Given the description of an element on the screen output the (x, y) to click on. 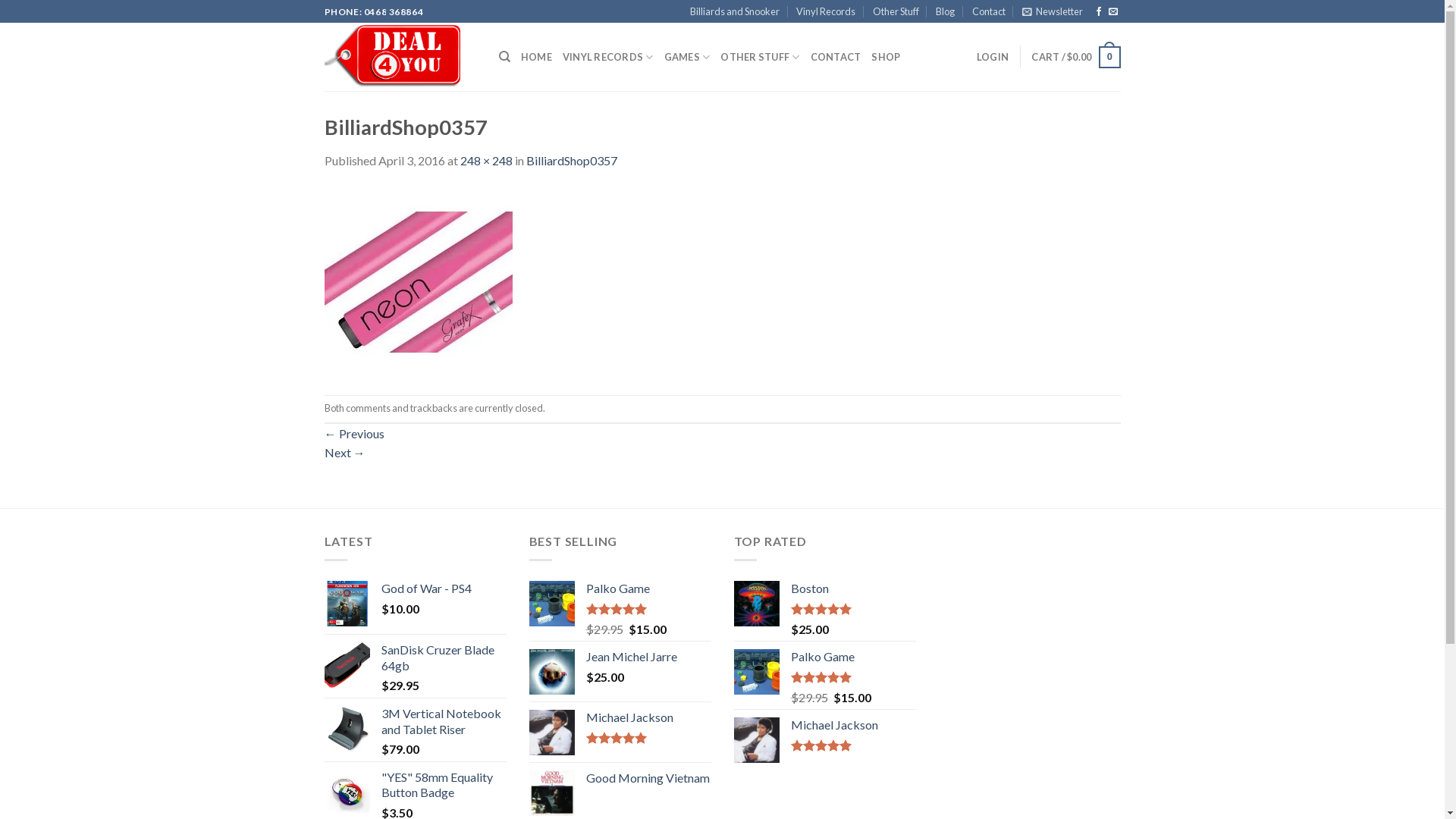
"YES" 58mm Equality Button Badge Element type: text (442, 785)
Follow on Facebook Element type: hover (1098, 11)
BilliardShop0357 Element type: hover (418, 280)
Blog Element type: text (944, 11)
Vinyl Records Element type: text (825, 11)
CART / $0.00
0 Element type: text (1075, 57)
CONTACT Element type: text (835, 56)
Jean Michel Jarre Element type: text (647, 657)
LOGIN Element type: text (992, 56)
BilliardShop0357 Element type: text (571, 160)
Michael Jackson Element type: text (647, 717)
Contact Element type: text (988, 11)
Michael Jackson Element type: text (852, 725)
Deal 4 You - Where everyone gets a bargain Element type: hover (400, 56)
Boston Element type: text (852, 588)
Palko Game Element type: text (852, 657)
SanDisk Cruzer Blade 64gb Element type: text (442, 658)
Palko Game Element type: text (647, 588)
SHOP Element type: text (885, 56)
OTHER STUFF Element type: text (759, 56)
Other Stuff Element type: text (895, 11)
HOME Element type: text (536, 56)
GAMES Element type: text (687, 56)
3M Vertical Notebook and Tablet Riser Element type: text (442, 721)
Send us an email Element type: hover (1112, 11)
Billiards and Snooker Element type: text (734, 11)
Newsletter Element type: text (1052, 11)
God of War - PS4 Element type: text (442, 588)
Good Morning Vietnam Element type: text (647, 778)
VINYL RECORDS Element type: text (607, 56)
